Given the description of an element on the screen output the (x, y) to click on. 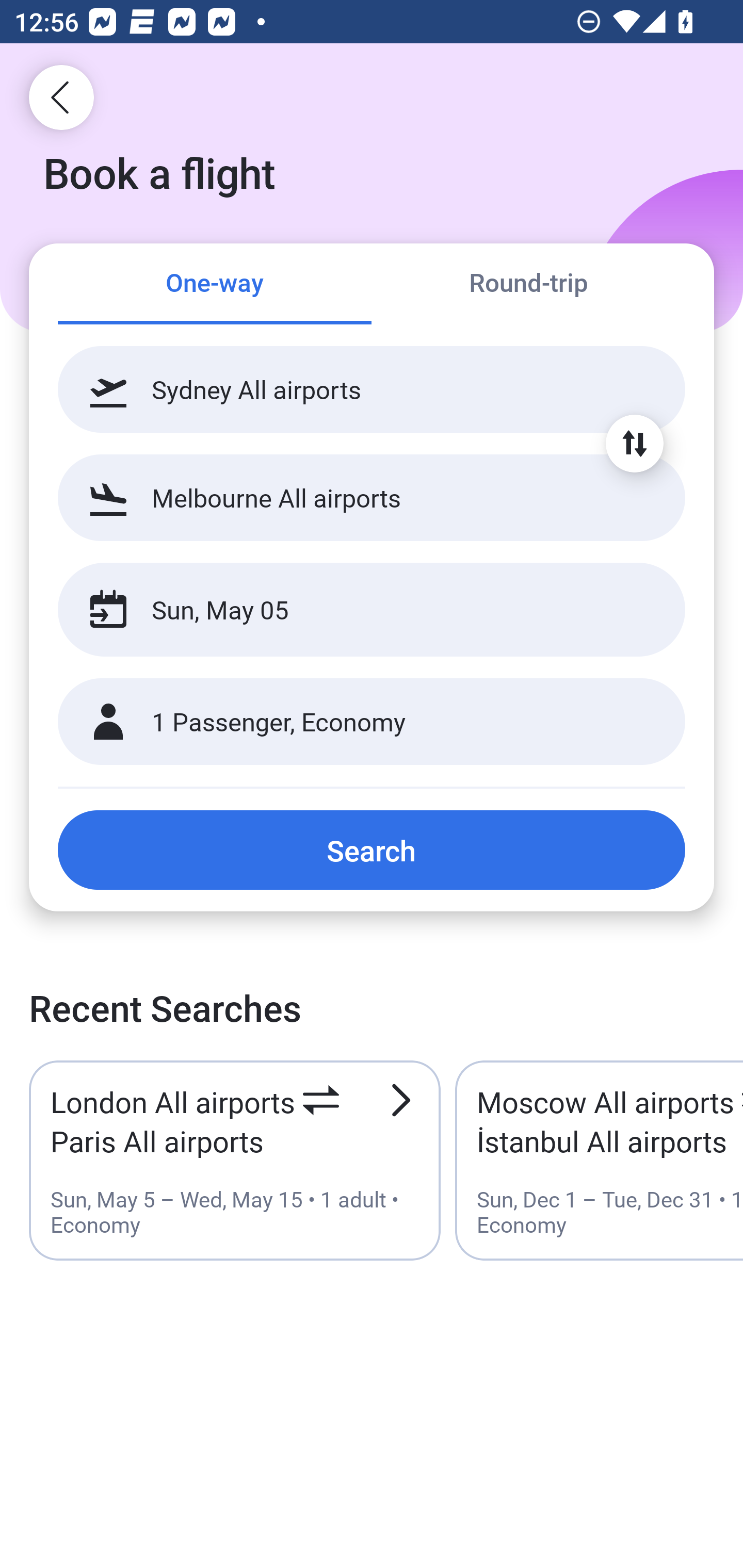
Round-trip (528, 284)
Sydney All airports (371, 389)
Melbourne All airports (371, 497)
Sun, May 05 (349, 609)
1 Passenger, Economy (371, 721)
Search (371, 849)
